Given the description of an element on the screen output the (x, y) to click on. 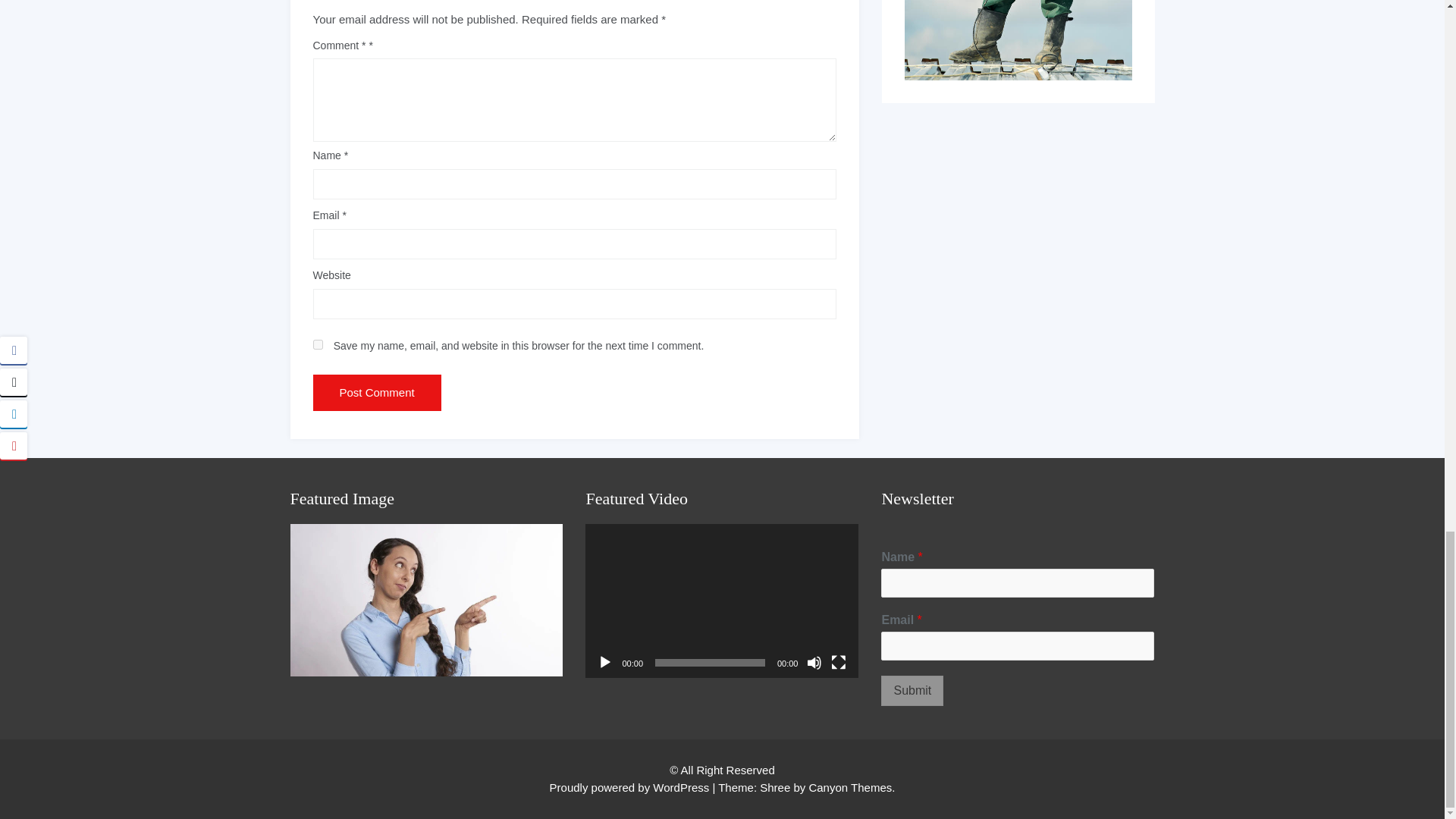
Mute (814, 662)
yes (317, 344)
Post Comment (377, 392)
Play (604, 662)
Post Comment (377, 392)
Fullscreen (838, 662)
